Given the description of an element on the screen output the (x, y) to click on. 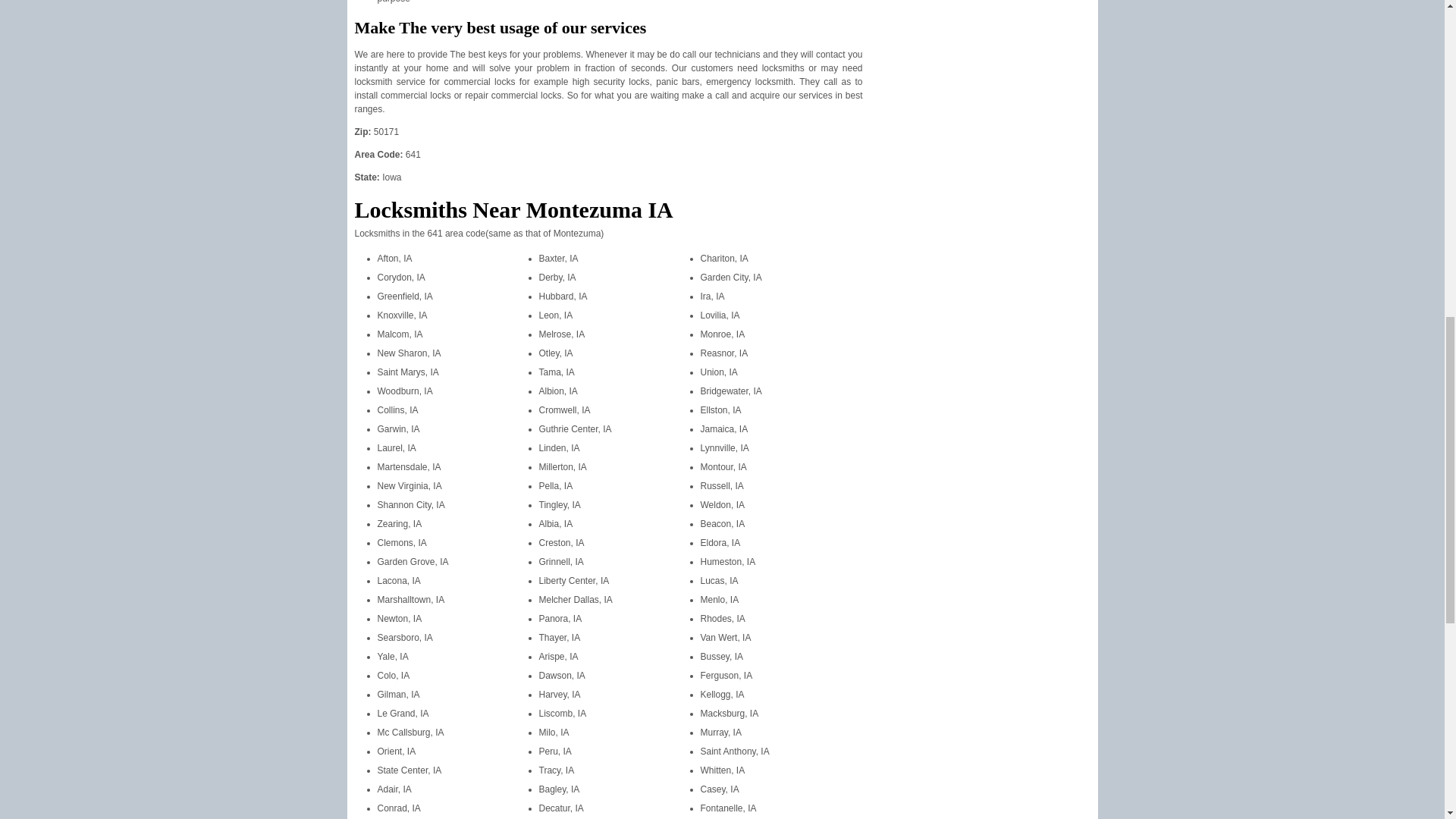
Iowa (391, 176)
Monroe, IA (722, 334)
Guthrie Center, IA (574, 429)
Garden City, IA (730, 276)
Melrose, IA (561, 334)
Cromwell, IA (563, 409)
Reasnor, IA (724, 353)
Leon, IA (555, 315)
Tama, IA (555, 371)
Derby, IA (556, 276)
